Given the description of an element on the screen output the (x, y) to click on. 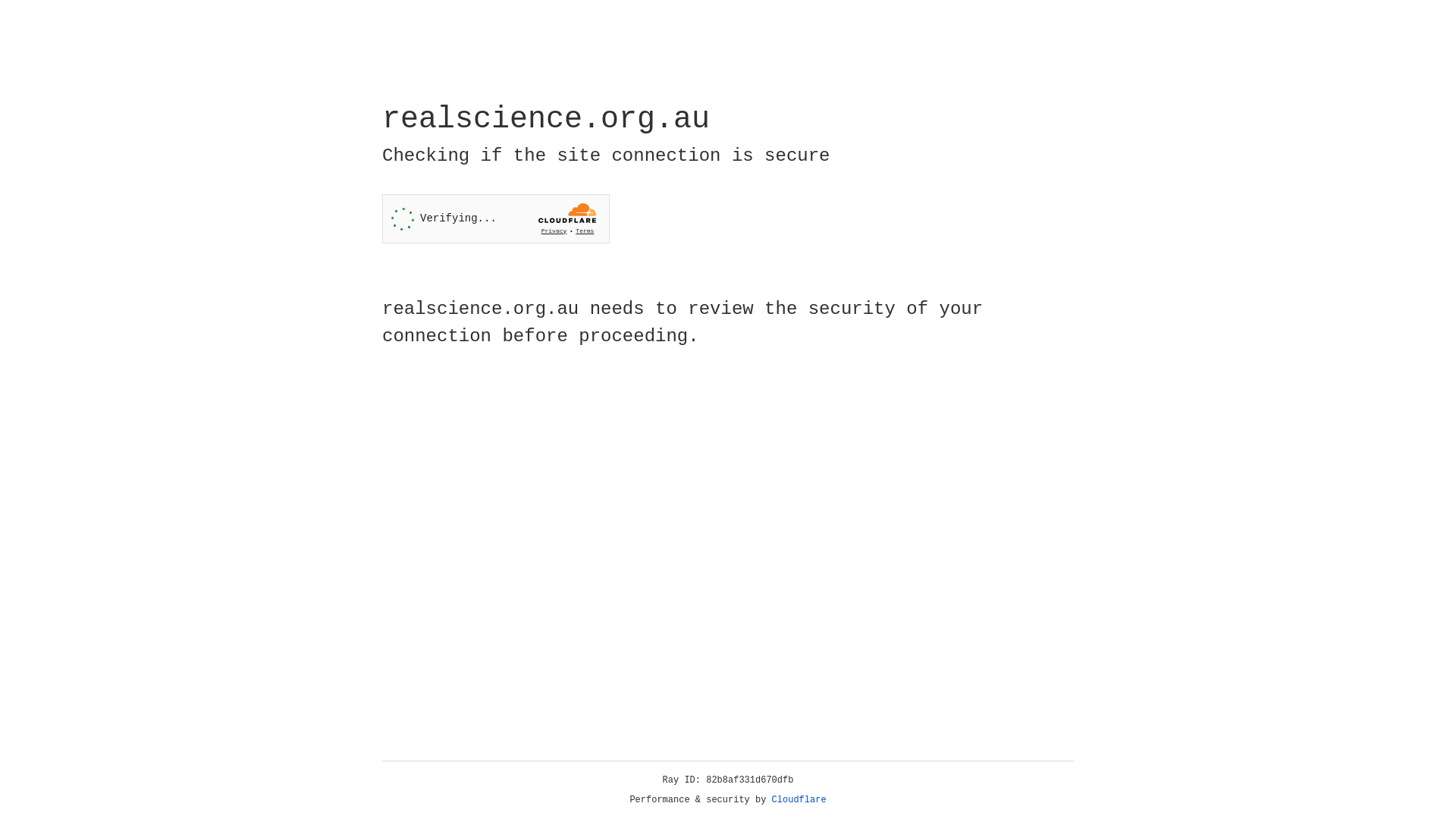
Cloudflare Element type: text (798, 799)
Widget containing a Cloudflare security challenge Element type: hover (495, 218)
